Given the description of an element on the screen output the (x, y) to click on. 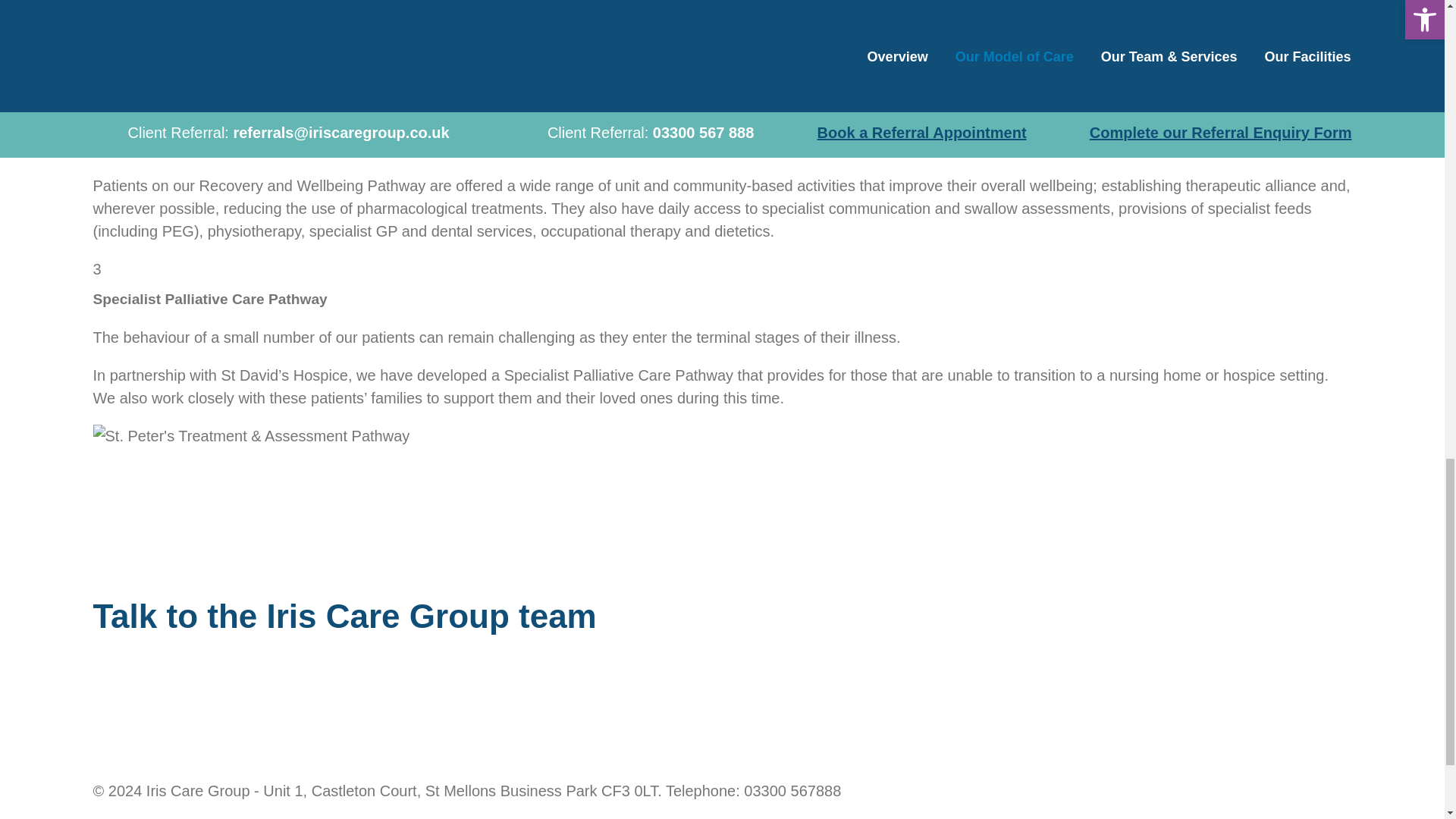
Contact Us (130, 692)
Contact Us (130, 692)
